Given the description of an element on the screen output the (x, y) to click on. 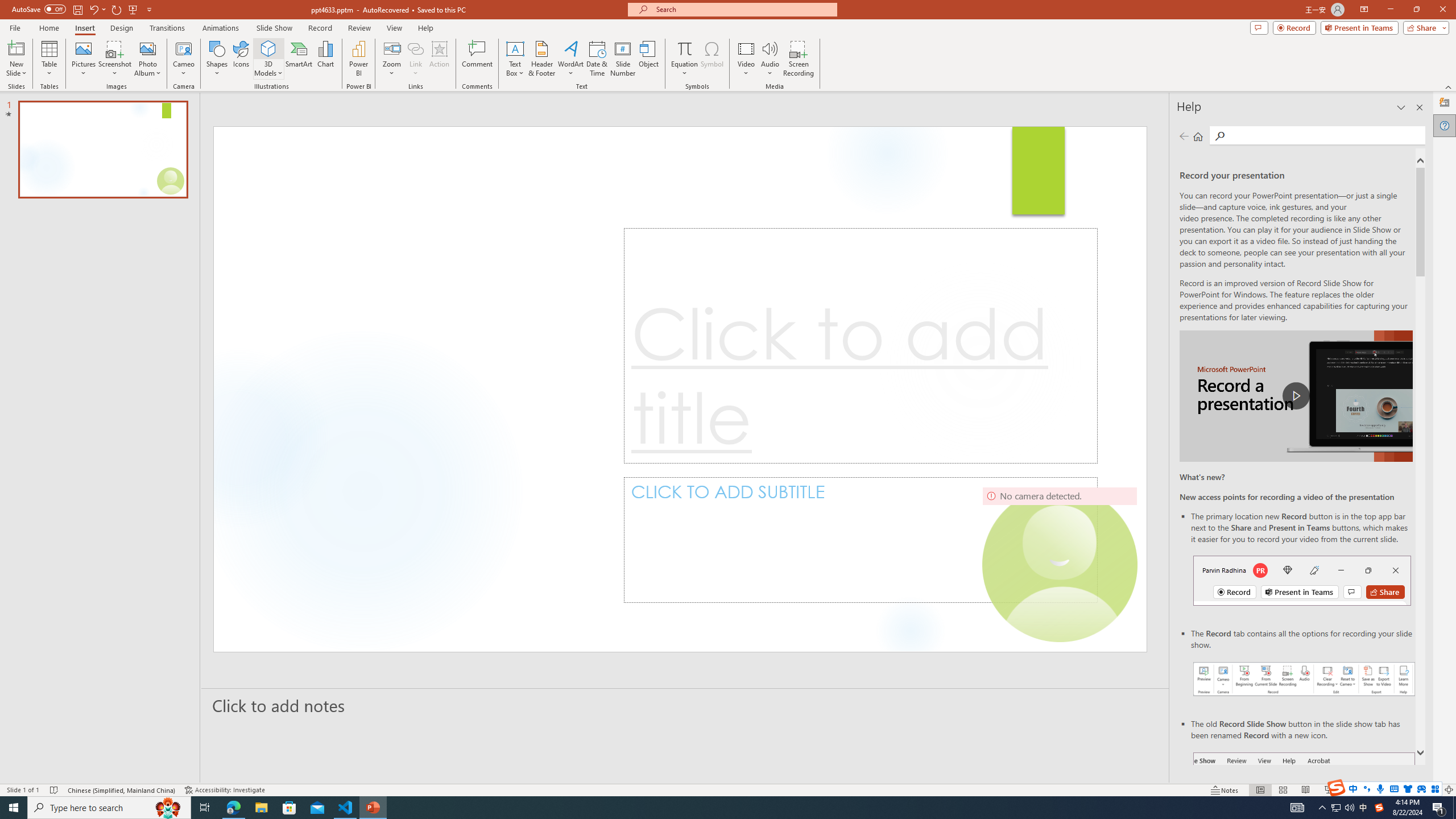
3D Models (268, 48)
Equation (683, 58)
Audio (769, 58)
Search (1325, 135)
SmartArt... (298, 58)
Date & Time... (596, 58)
